Given the description of an element on the screen output the (x, y) to click on. 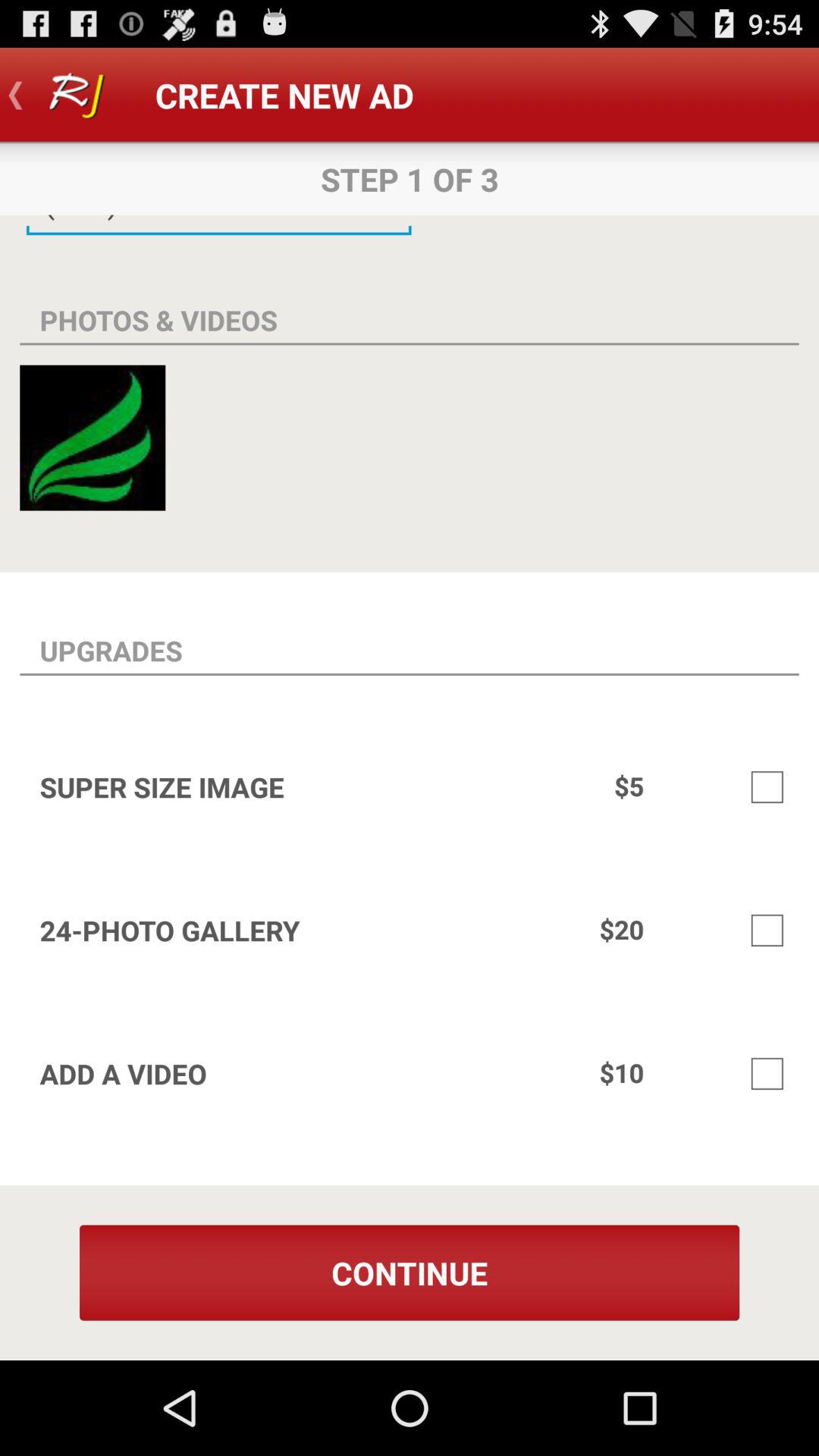
select option (767, 1073)
